Given the description of an element on the screen output the (x, y) to click on. 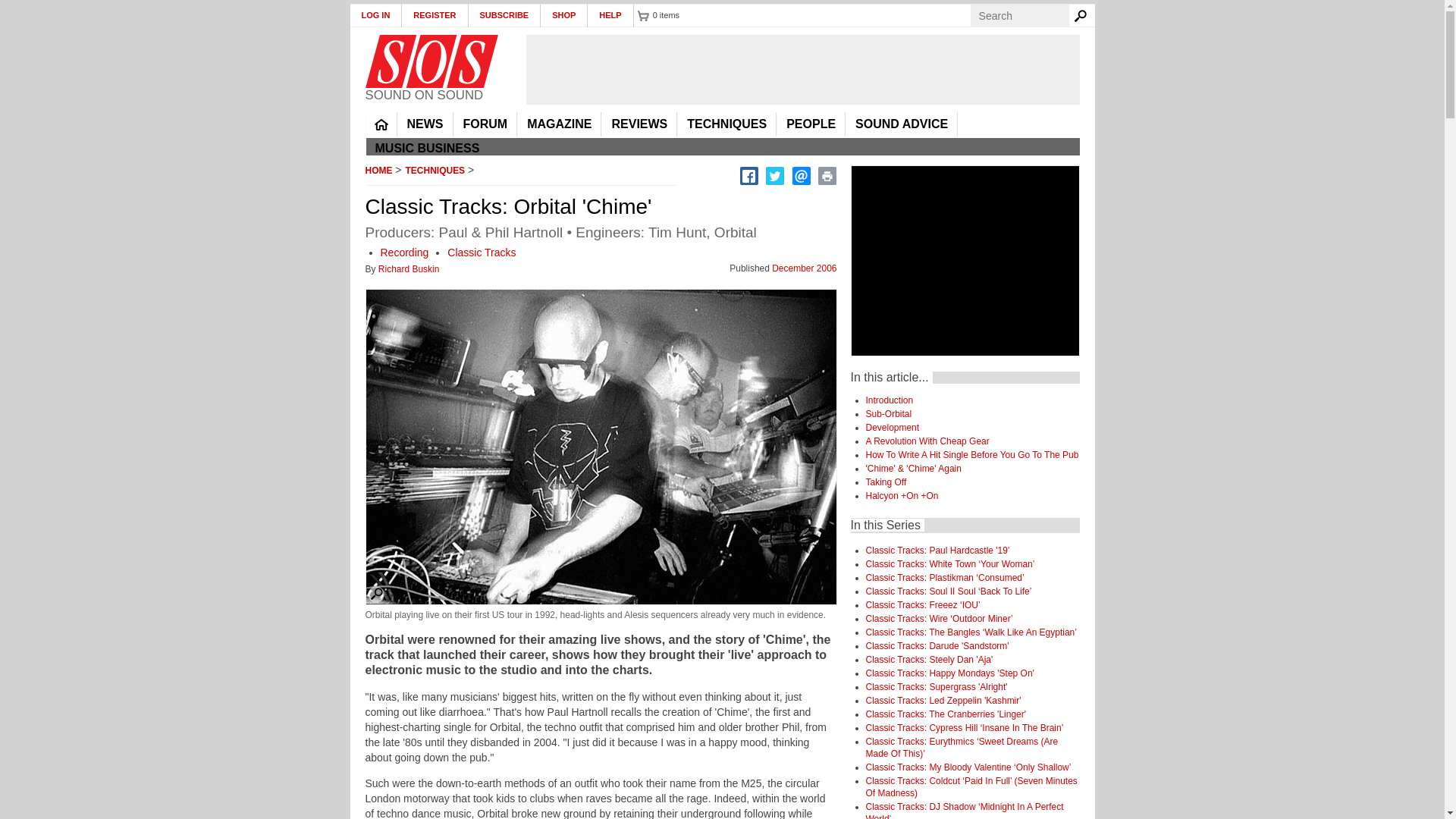
Search (1082, 15)
SUBSCRIBE (504, 15)
HOME (380, 124)
NEWS (424, 124)
FORUM (484, 124)
Home (431, 61)
REVIEWS (639, 124)
LOG IN (376, 15)
SHOP (564, 15)
